Given the description of an element on the screen output the (x, y) to click on. 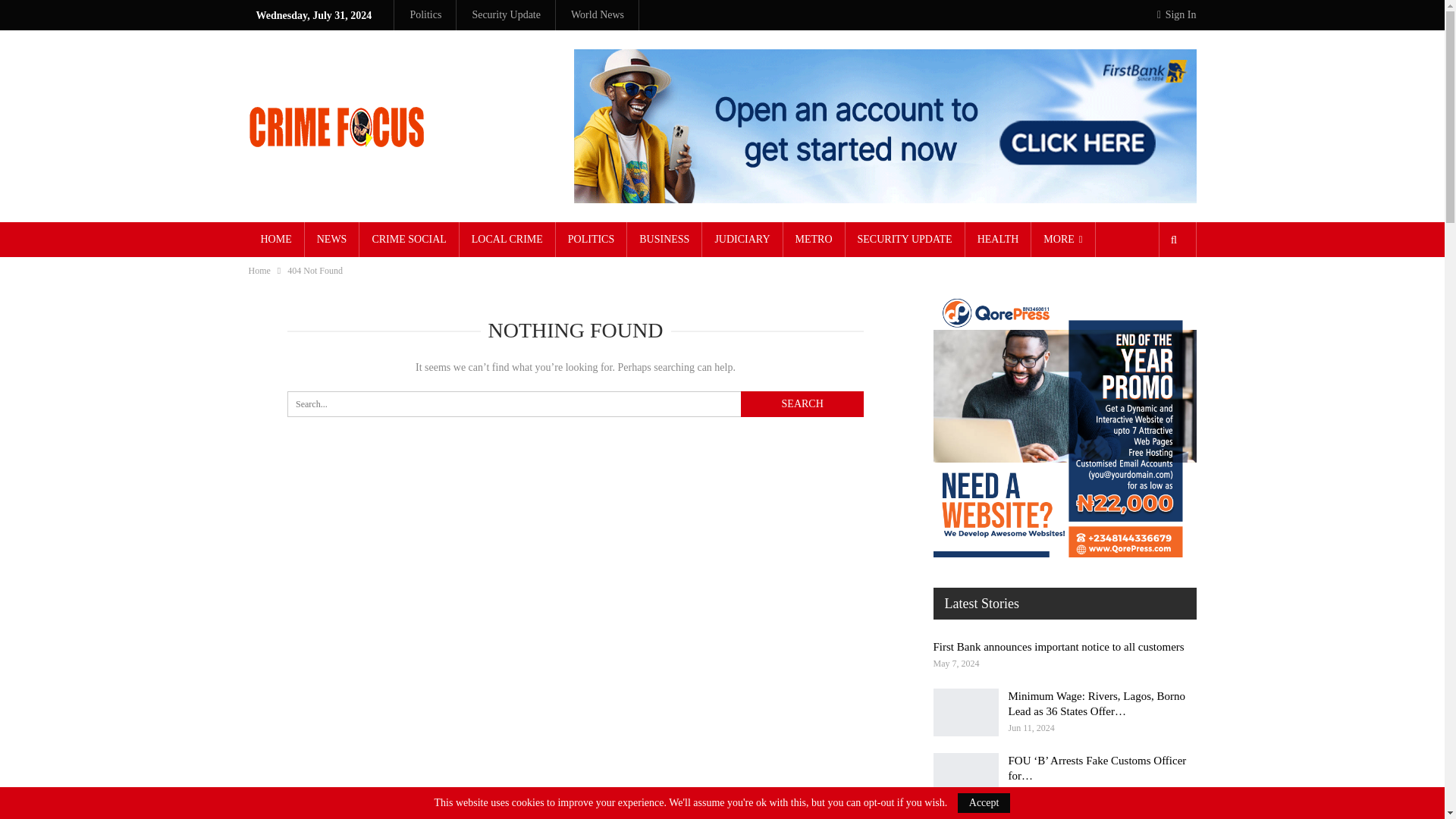
Search for: (574, 403)
Search (802, 403)
Home (259, 270)
HEALTH (997, 239)
BUSINESS (664, 239)
Search (802, 403)
Search (802, 403)
METRO (813, 239)
Politics (425, 14)
First Bank announces important notice to all customers (1058, 646)
SECURITY UPDATE (904, 239)
JUDICIARY (741, 239)
NEWS (331, 239)
Security Update (505, 14)
HOME (276, 239)
